Given the description of an element on the screen output the (x, y) to click on. 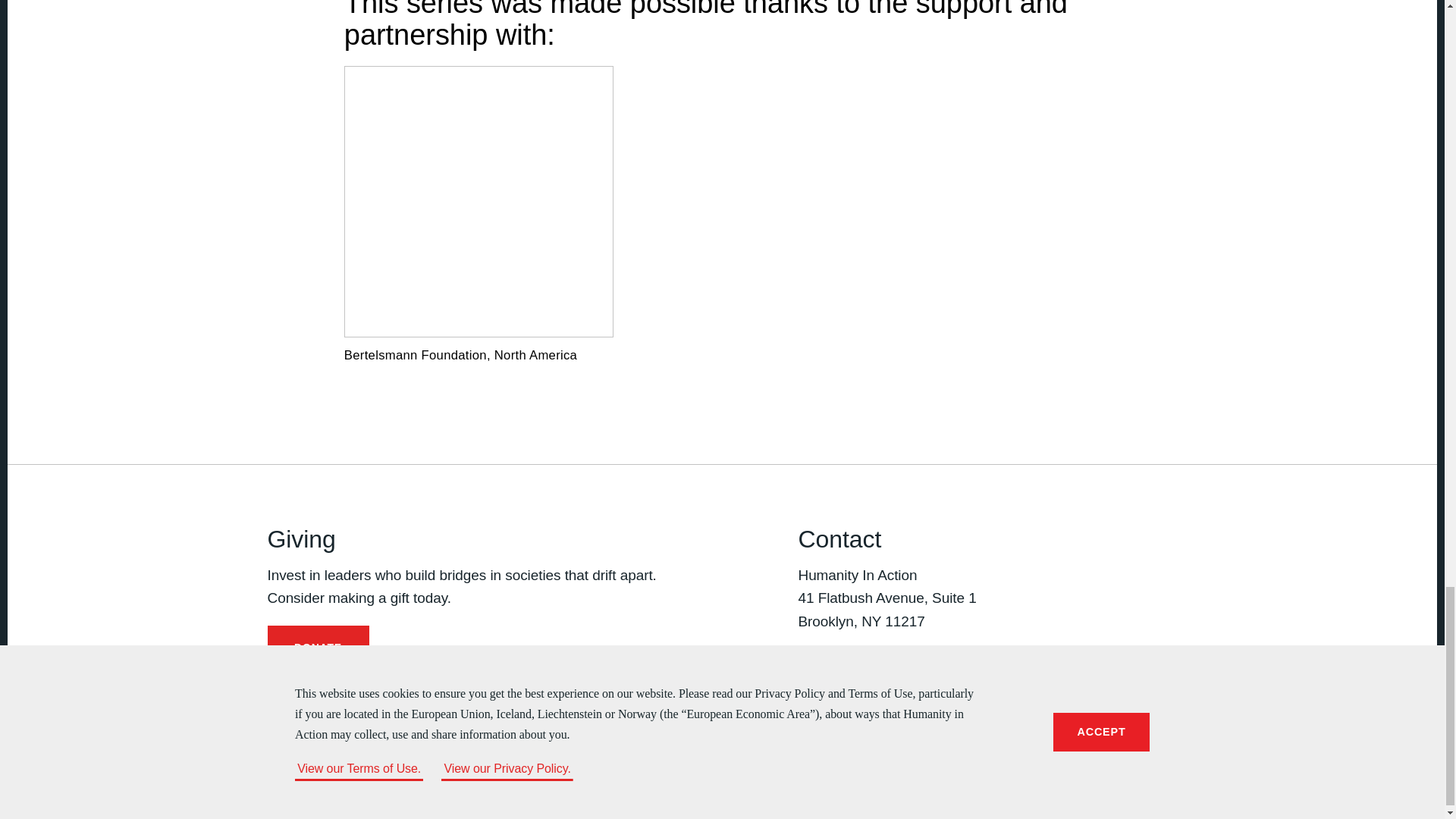
FACEBOOK (806, 679)
TWITTER (837, 679)
INSTAGRAM (868, 679)
YOUTUBE (899, 679)
